Given the description of an element on the screen output the (x, y) to click on. 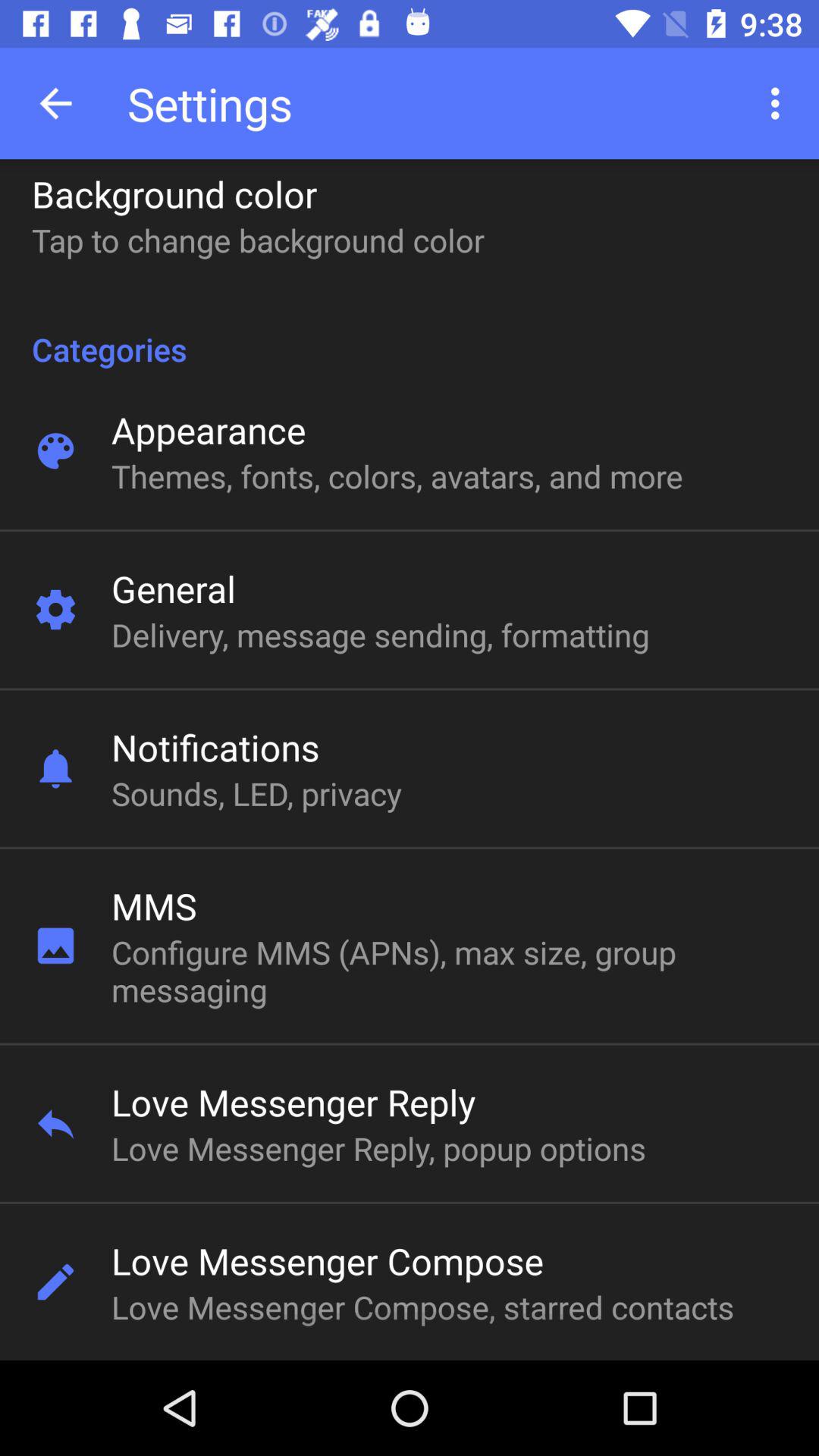
swipe until the tap to change icon (257, 239)
